Given the description of an element on the screen output the (x, y) to click on. 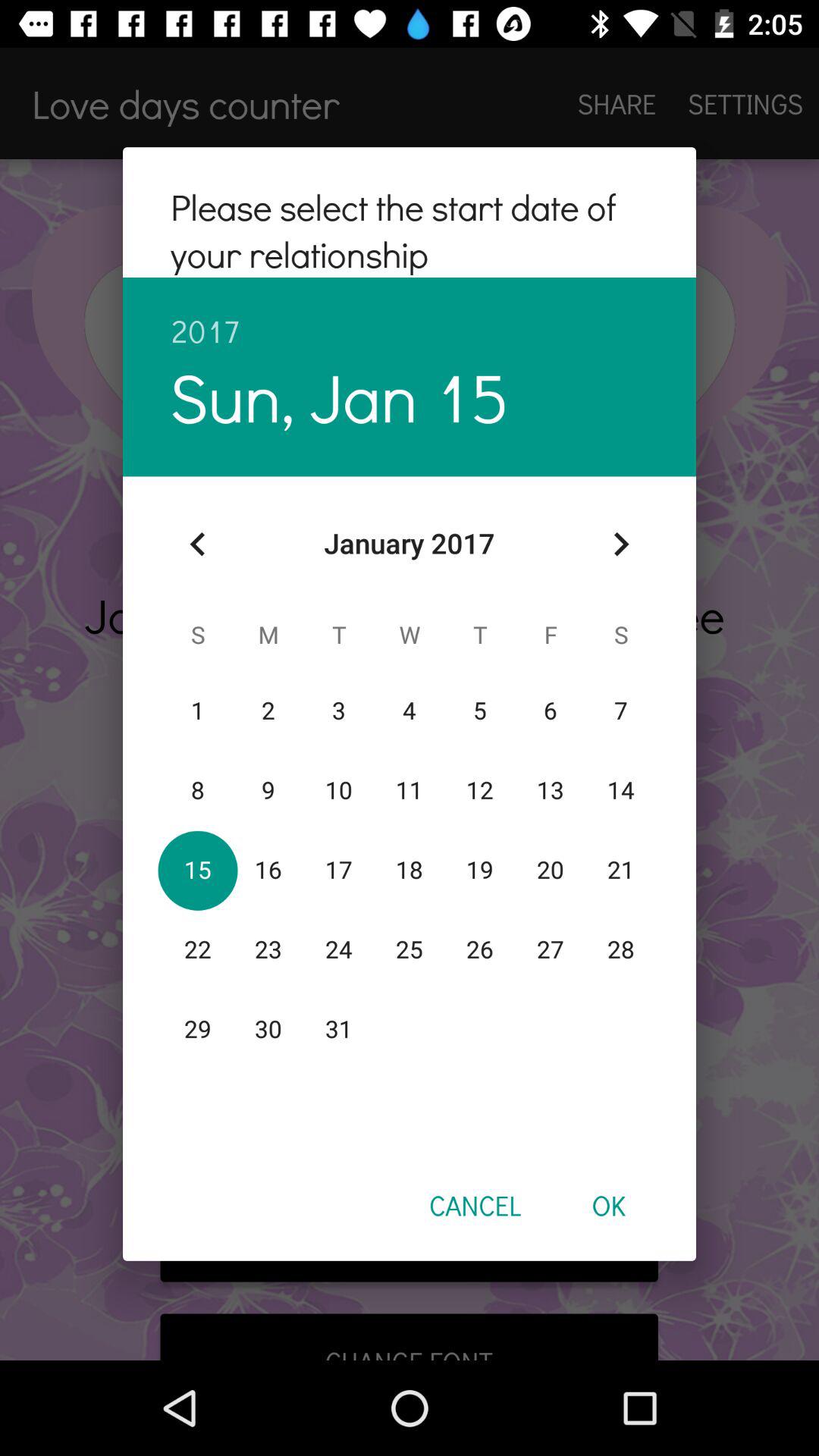
choose the icon to the left of ok item (474, 1204)
